Given the description of an element on the screen output the (x, y) to click on. 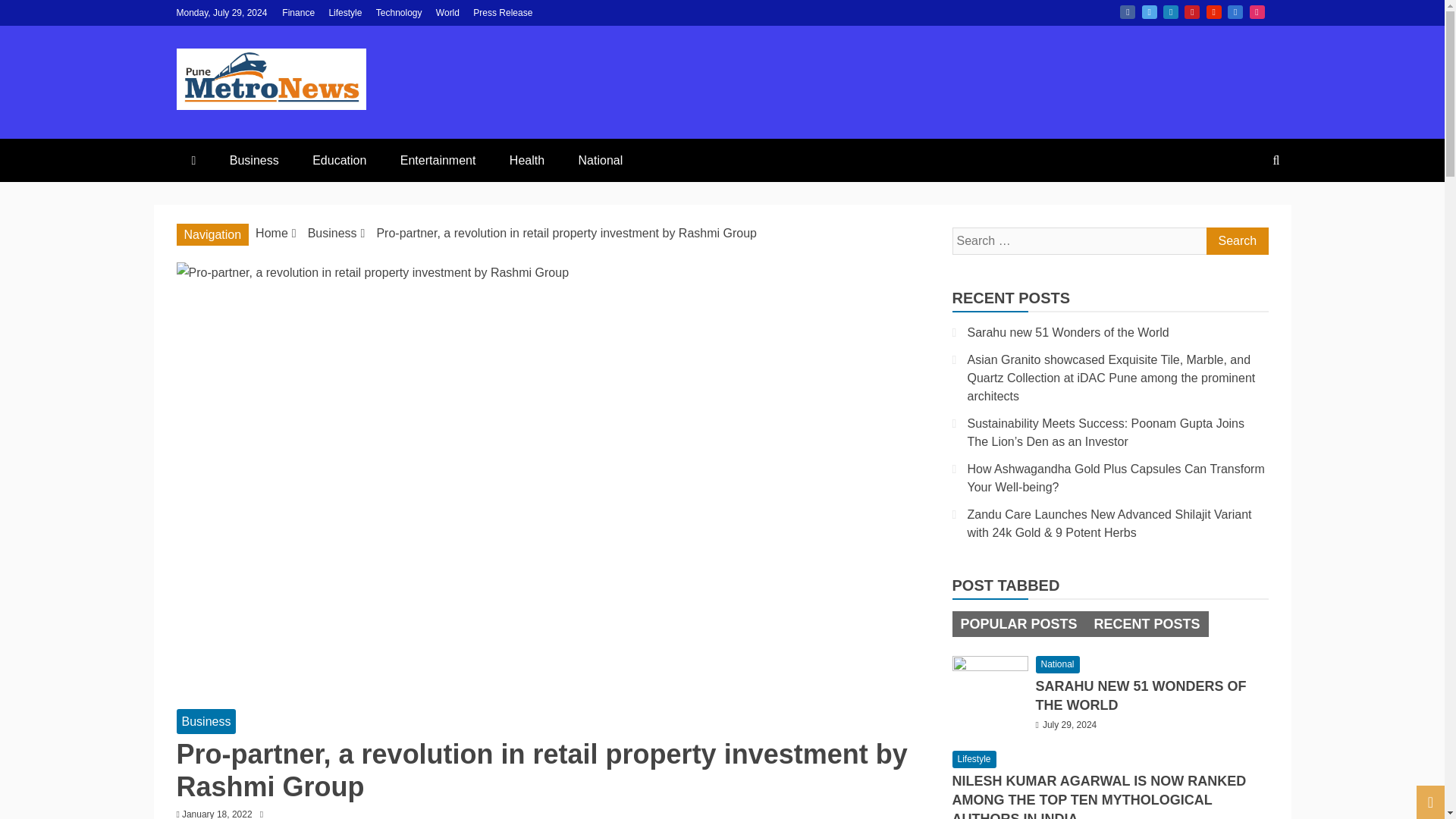
Finance (298, 12)
World (447, 12)
Youtube (1214, 11)
Lifestyle (345, 12)
Business (205, 721)
Entertainment (438, 159)
Health (527, 159)
Facebook (1127, 11)
Vk (1235, 11)
Business (331, 232)
Search (1236, 240)
Instagram (1257, 11)
PUNE METRO NEWS (422, 144)
Press Release (502, 12)
Business (254, 159)
